Given the description of an element on the screen output the (x, y) to click on. 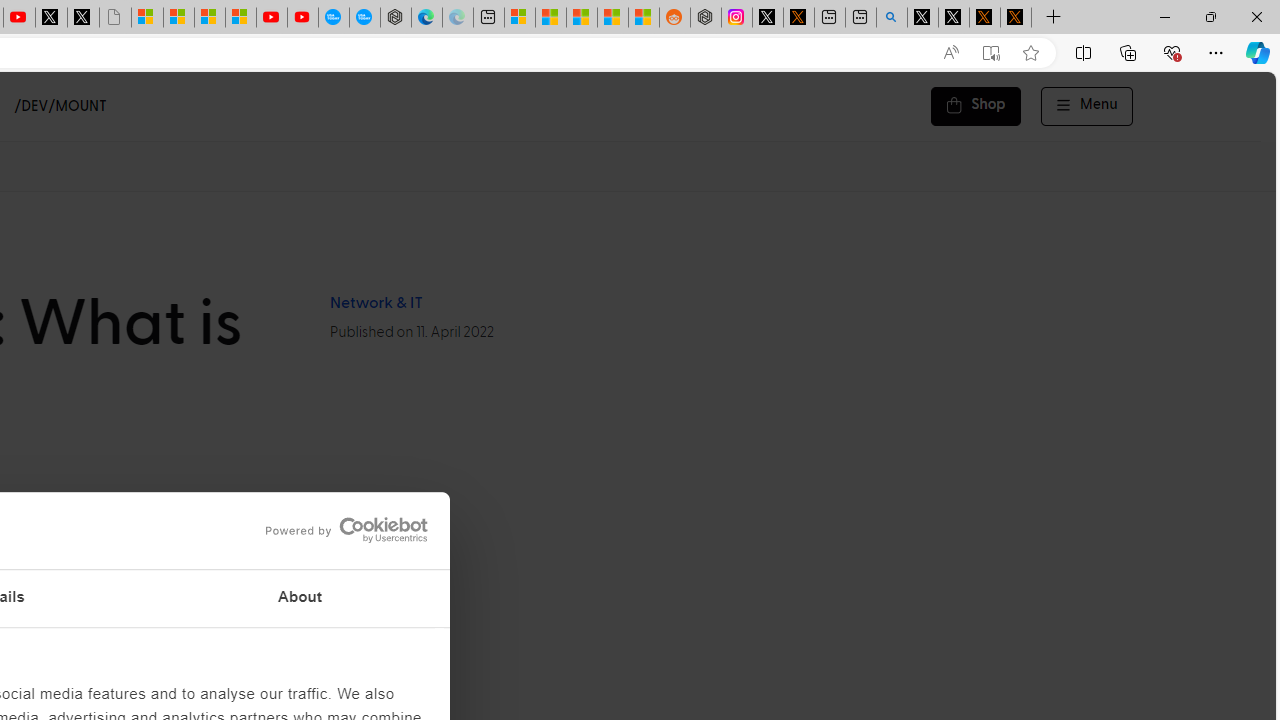
Log in to X / X (767, 17)
logo - opens in a new window (339, 530)
Profile / X (922, 17)
X Privacy Policy (1015, 17)
Network & IT (375, 303)
About (299, 598)
